Given the description of an element on the screen output the (x, y) to click on. 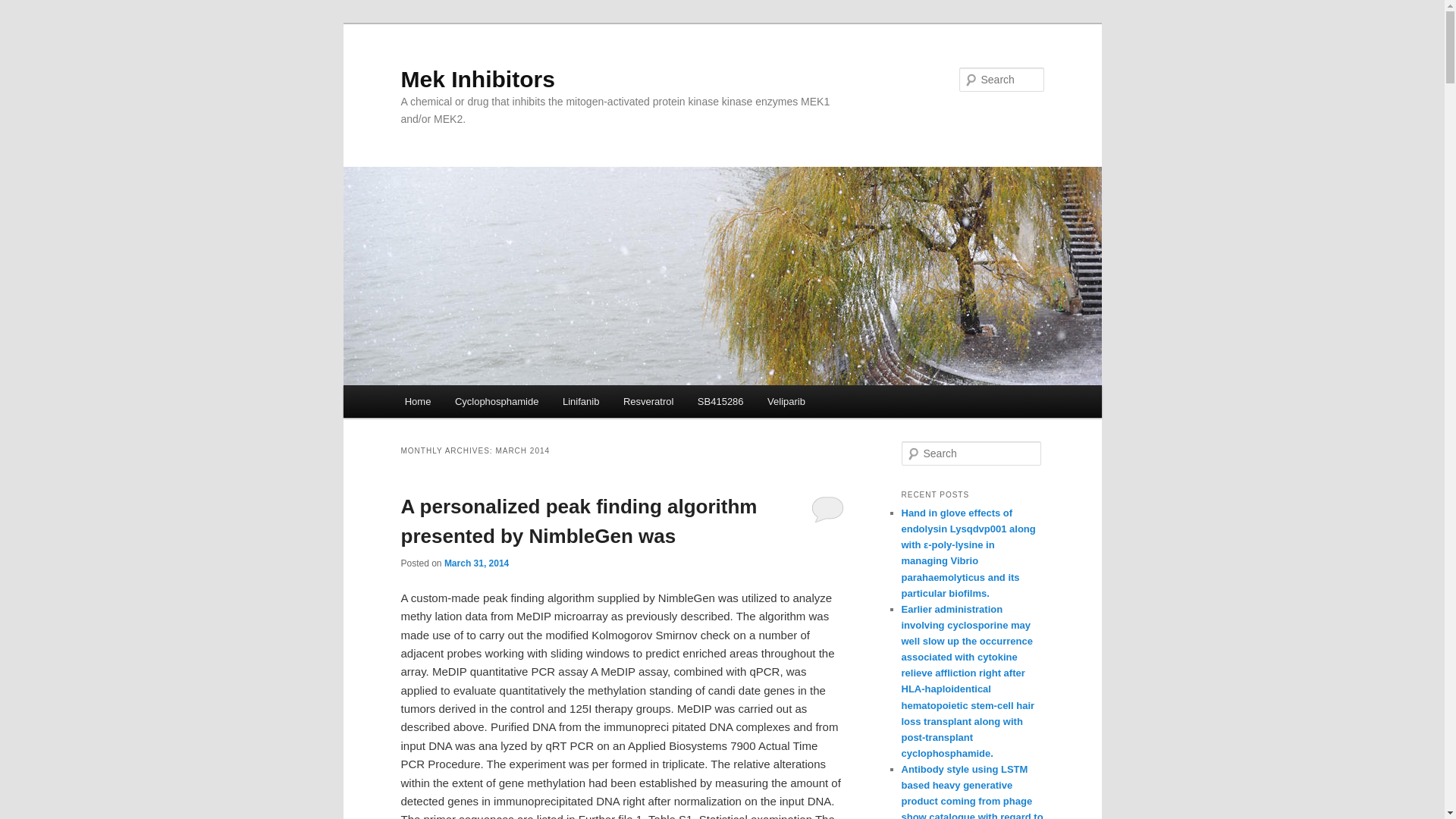
SB415286 (720, 400)
Skip to secondary content (479, 403)
Cyclophosphamide (496, 400)
Linifanib (580, 400)
Home (417, 400)
Home (417, 400)
Search (24, 8)
Mek Inhibitors (477, 78)
Skip to primary content (472, 403)
Skip to secondary content (479, 403)
Veliparib (785, 400)
March 31, 2014 (476, 562)
